Given the description of an element on the screen output the (x, y) to click on. 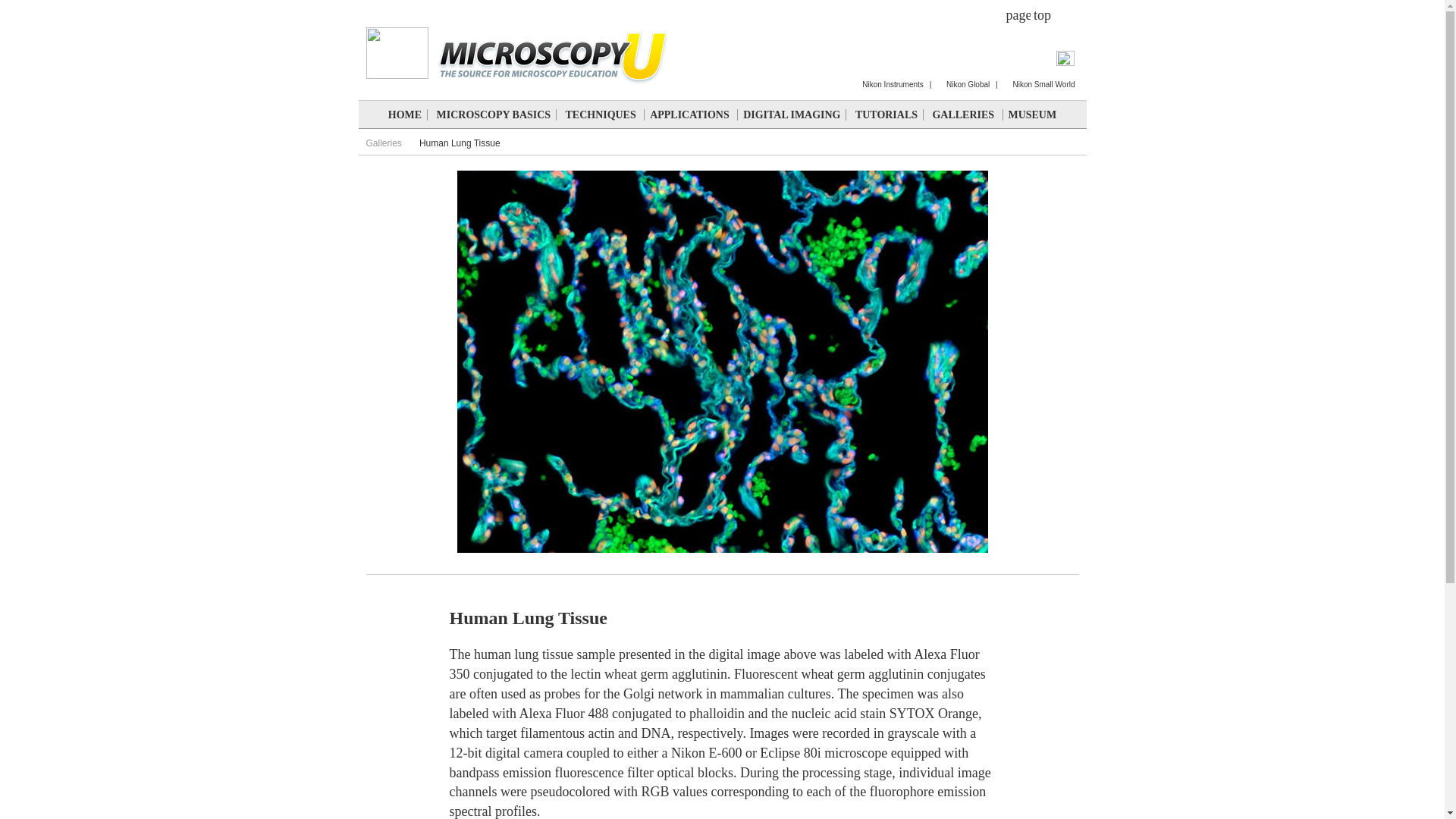
APPLICATIONS (689, 114)
Galleries (387, 143)
MUSEUM (1033, 114)
GALLERIES (962, 114)
main menu (377, 2)
share this page (1017, 12)
HOME (405, 114)
TUTORIALS (886, 114)
Nikon Small World (1038, 84)
Nikon Instruments (887, 84)
Nikon Global (962, 84)
DIGITAL IMAGING (791, 114)
MICROSCOPY BASICS (493, 114)
scroll to top (1041, 12)
TECHNIQUES (601, 114)
